Given the description of an element on the screen output the (x, y) to click on. 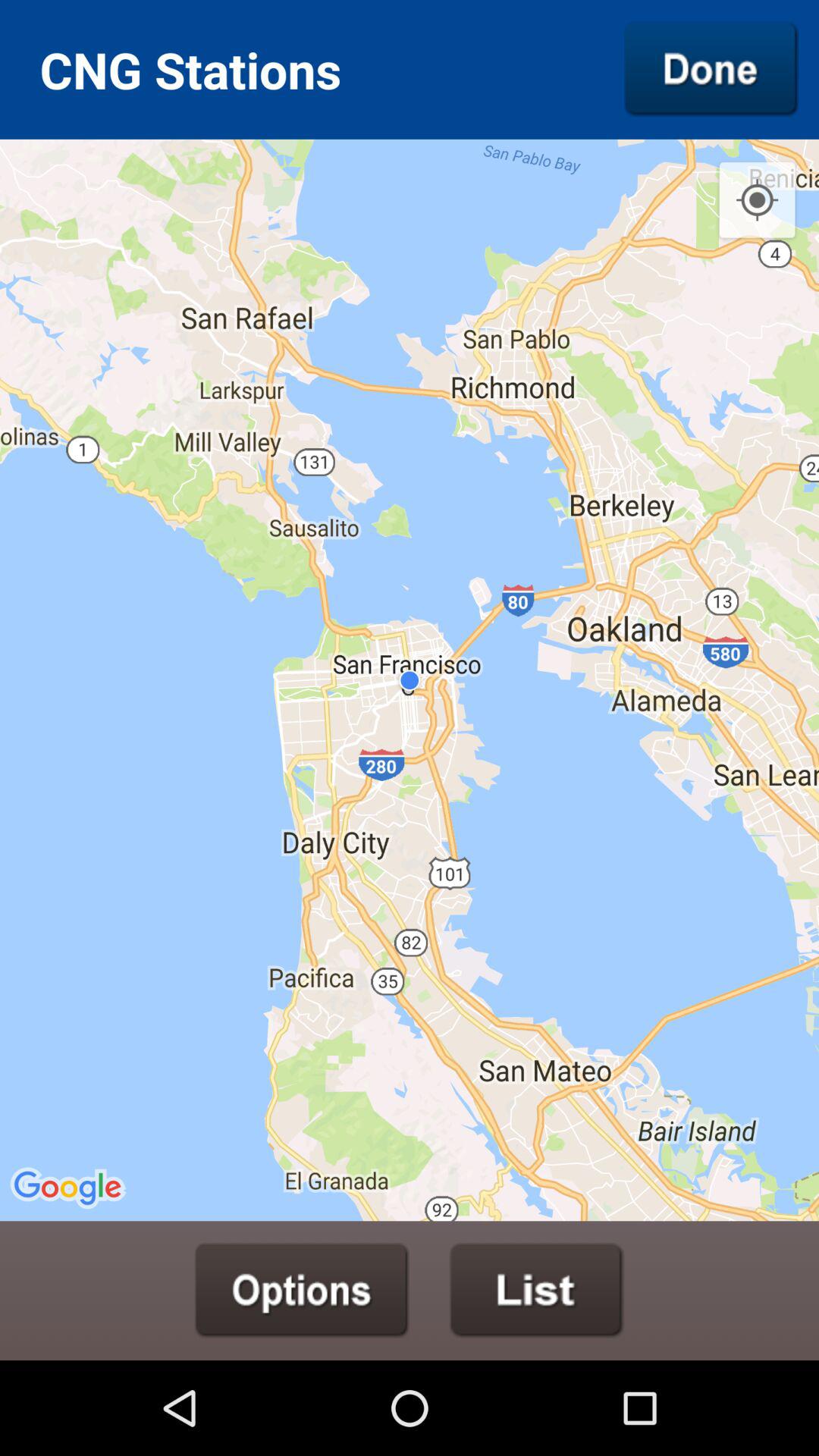
show list (536, 1290)
